Given the description of an element on the screen output the (x, y) to click on. 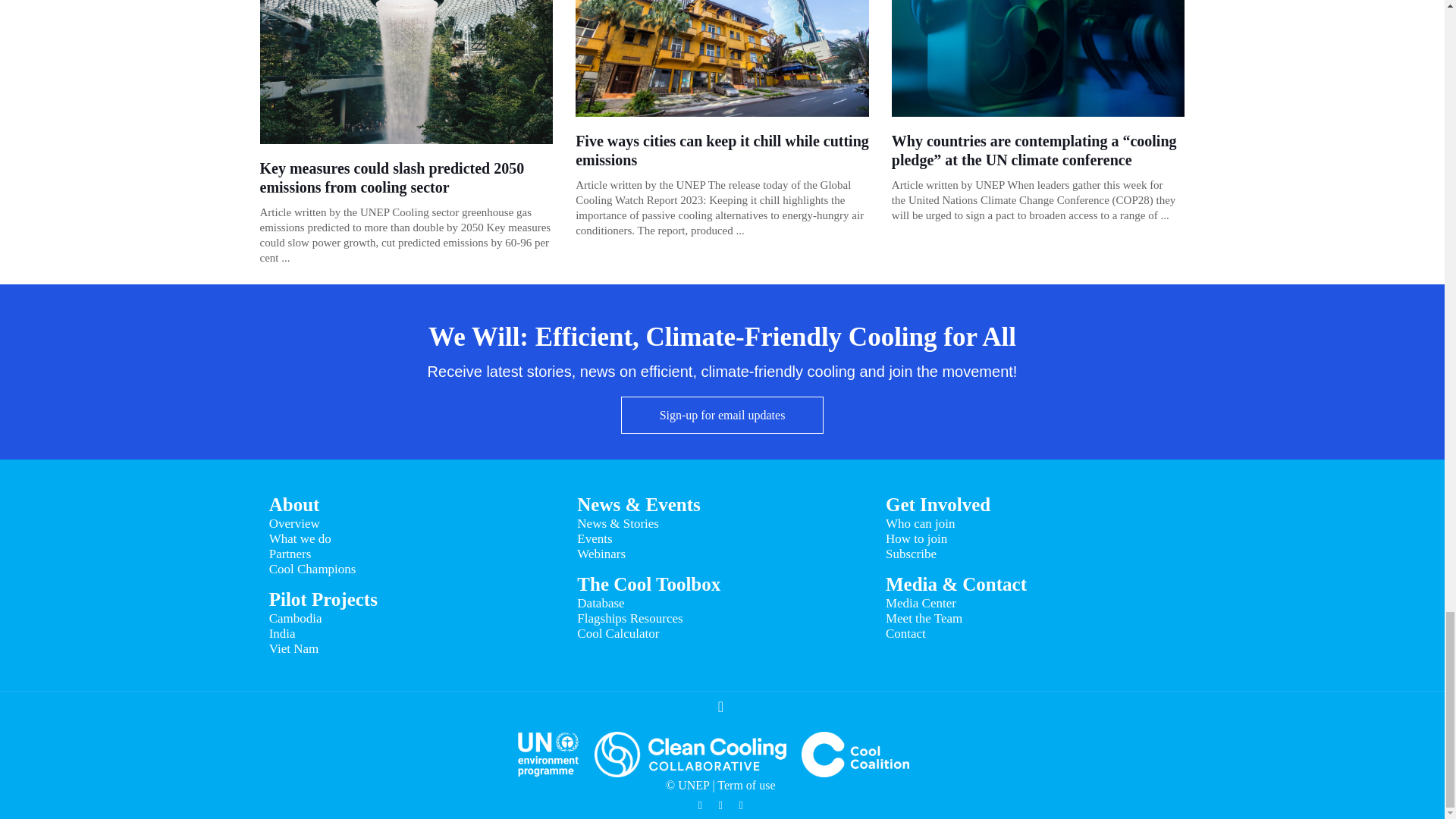
YouTube (721, 805)
Twitter (700, 805)
LinkedIn (741, 805)
